Given the description of an element on the screen output the (x, y) to click on. 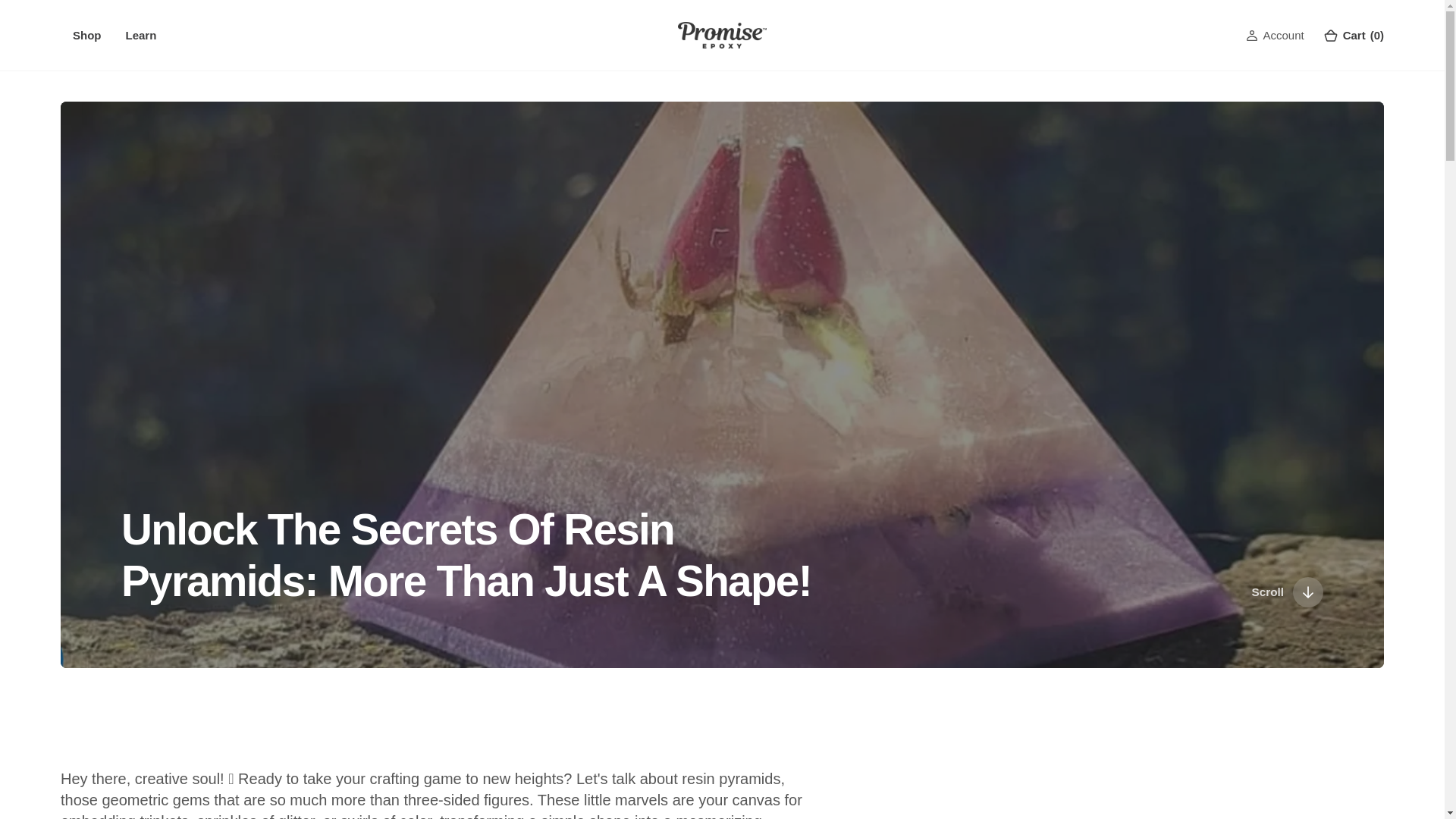
Shop (87, 35)
Learn (140, 35)
Shop (86, 34)
Account (1282, 35)
Learn (141, 34)
